Given the description of an element on the screen output the (x, y) to click on. 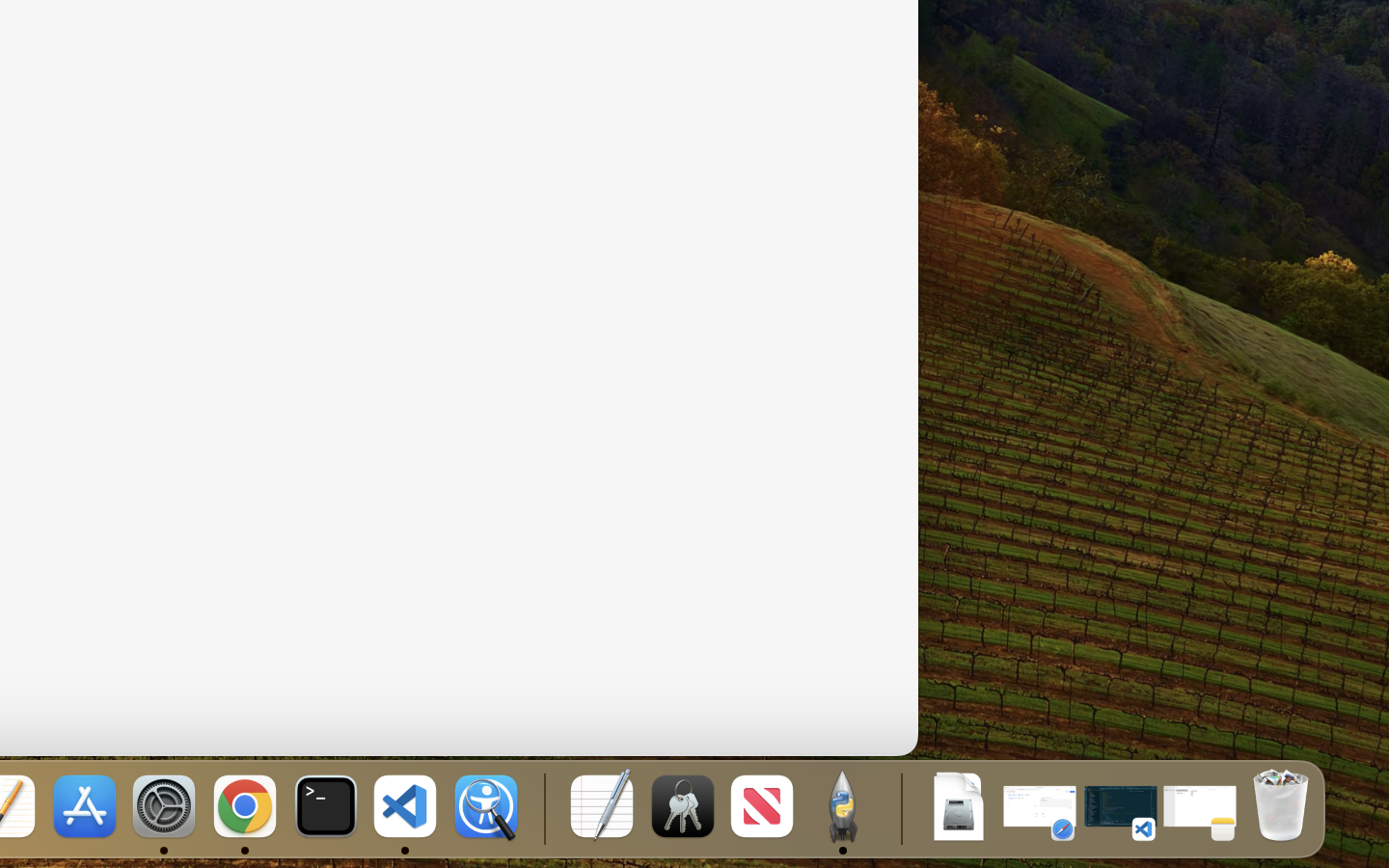
0.4285714328289032 Element type: AXDockItem (541, 807)
